Given the description of an element on the screen output the (x, y) to click on. 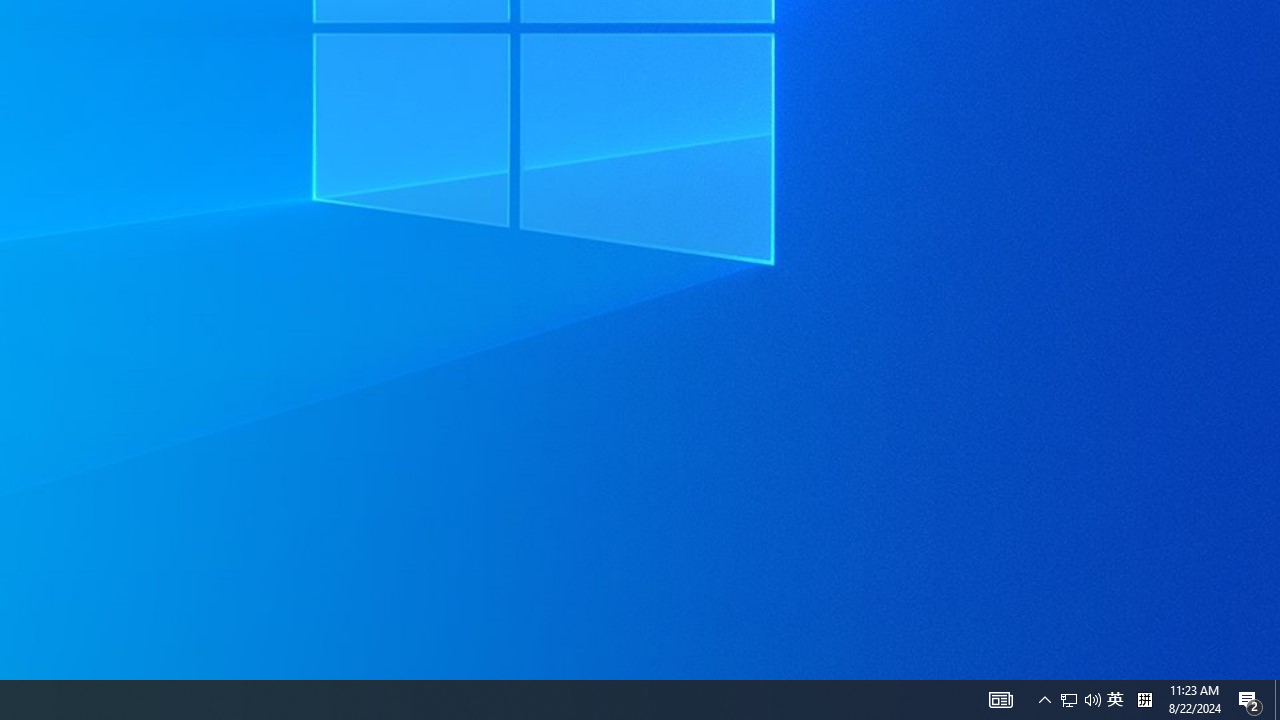
Action Center, 2 new notifications (1250, 699)
AutomationID: 4105 (1000, 699)
User Promoted Notification Area (1069, 699)
Q2790: 100% (1080, 699)
Show desktop (1092, 699)
Tray Input Indicator - Chinese (Simplified, China) (1115, 699)
Notification Chevron (1277, 699)
